Given the description of an element on the screen output the (x, y) to click on. 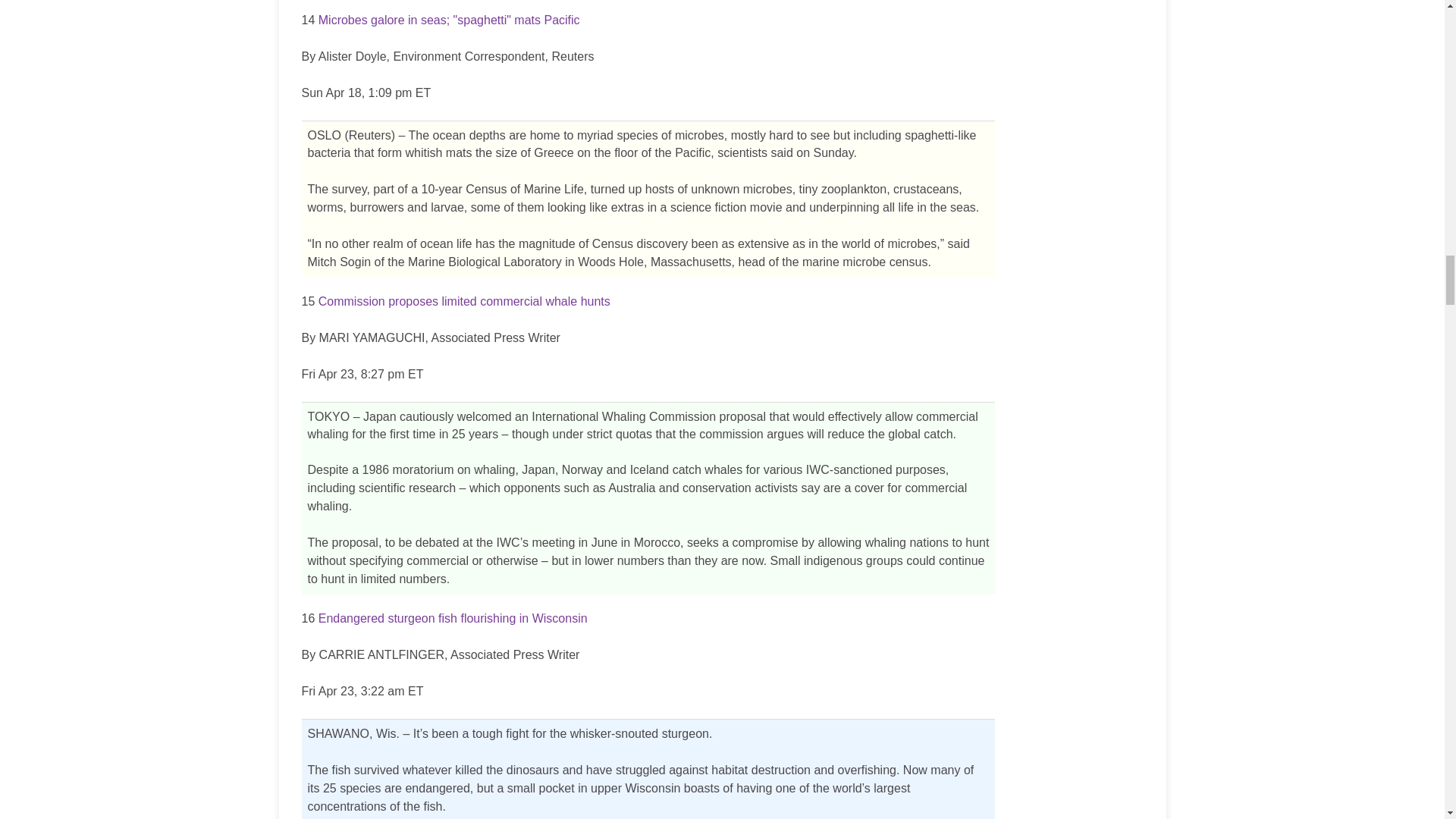
Commission proposes limited commercial whale hunts (464, 300)
Microbes galore in seas; "spaghetti" mats Pacific (448, 19)
Endangered sturgeon fish flourishing in Wisconsin (453, 617)
